Given the description of an element on the screen output the (x, y) to click on. 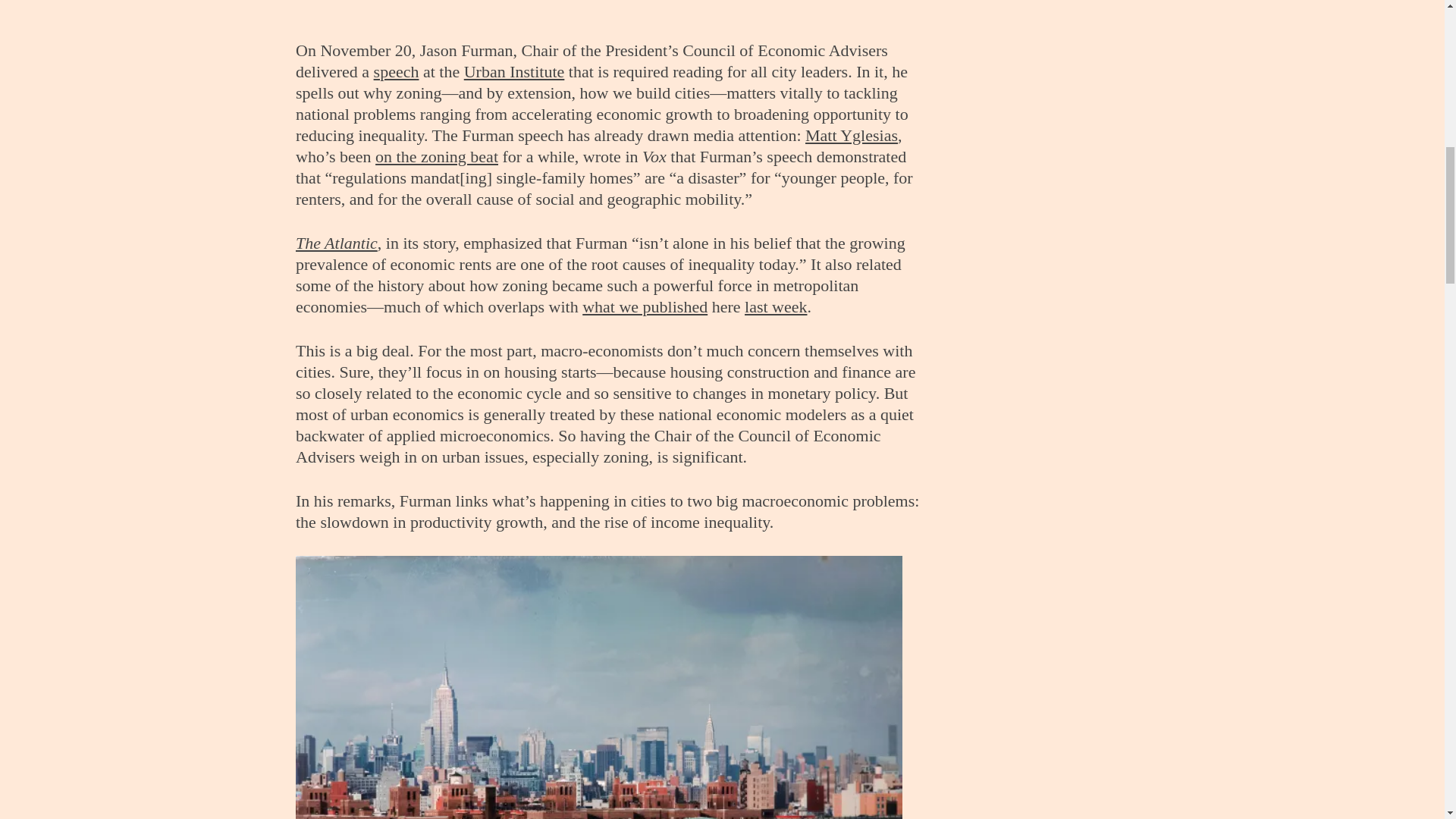
Matt Yglesias (851, 135)
Urban Institute (514, 71)
on the zoning beat (436, 156)
what we published (644, 306)
last week (775, 306)
The Atlantic (336, 242)
speech (396, 71)
